Given the description of an element on the screen output the (x, y) to click on. 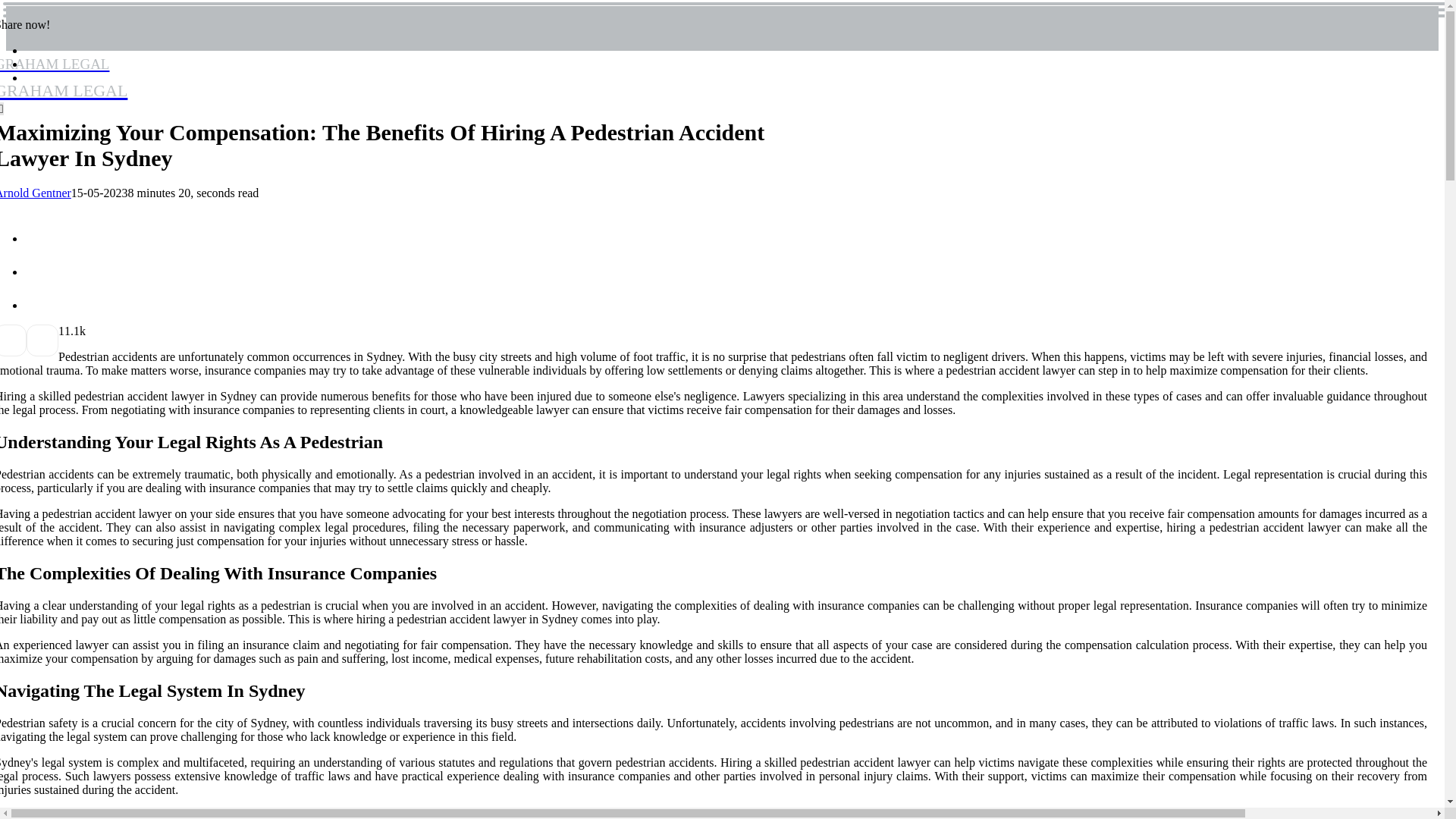
Posts by Arnold Gentner (64, 76)
Arnold Gentner (35, 192)
